Given the description of an element on the screen output the (x, y) to click on. 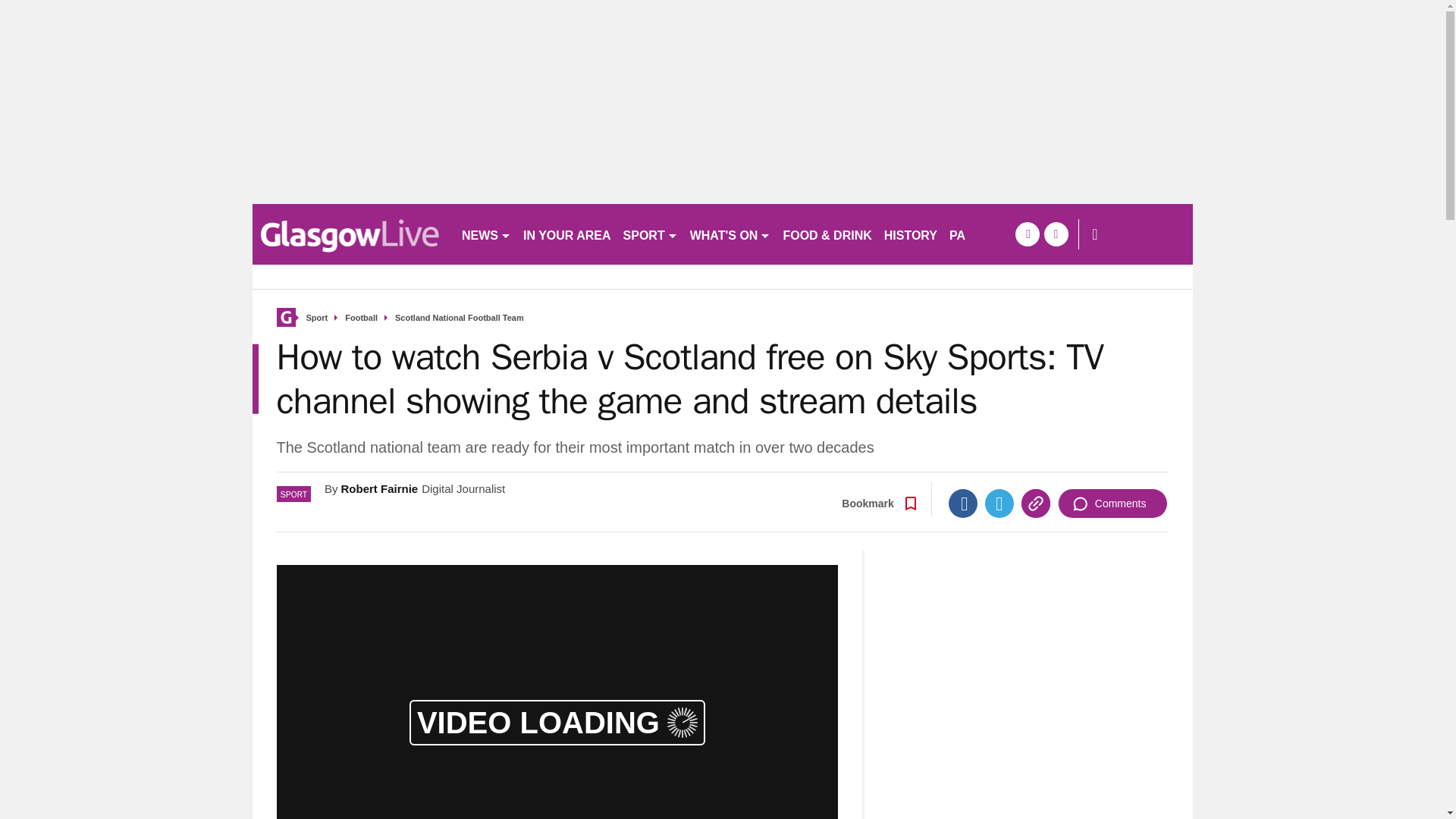
HISTORY (910, 233)
Comments (1112, 502)
NEWS (485, 233)
twitter (1055, 233)
SPORT (650, 233)
Facebook (962, 502)
PARTNER STORIES (1006, 233)
Twitter (999, 502)
glasgowlive (349, 233)
facebook (1026, 233)
